Given the description of an element on the screen output the (x, y) to click on. 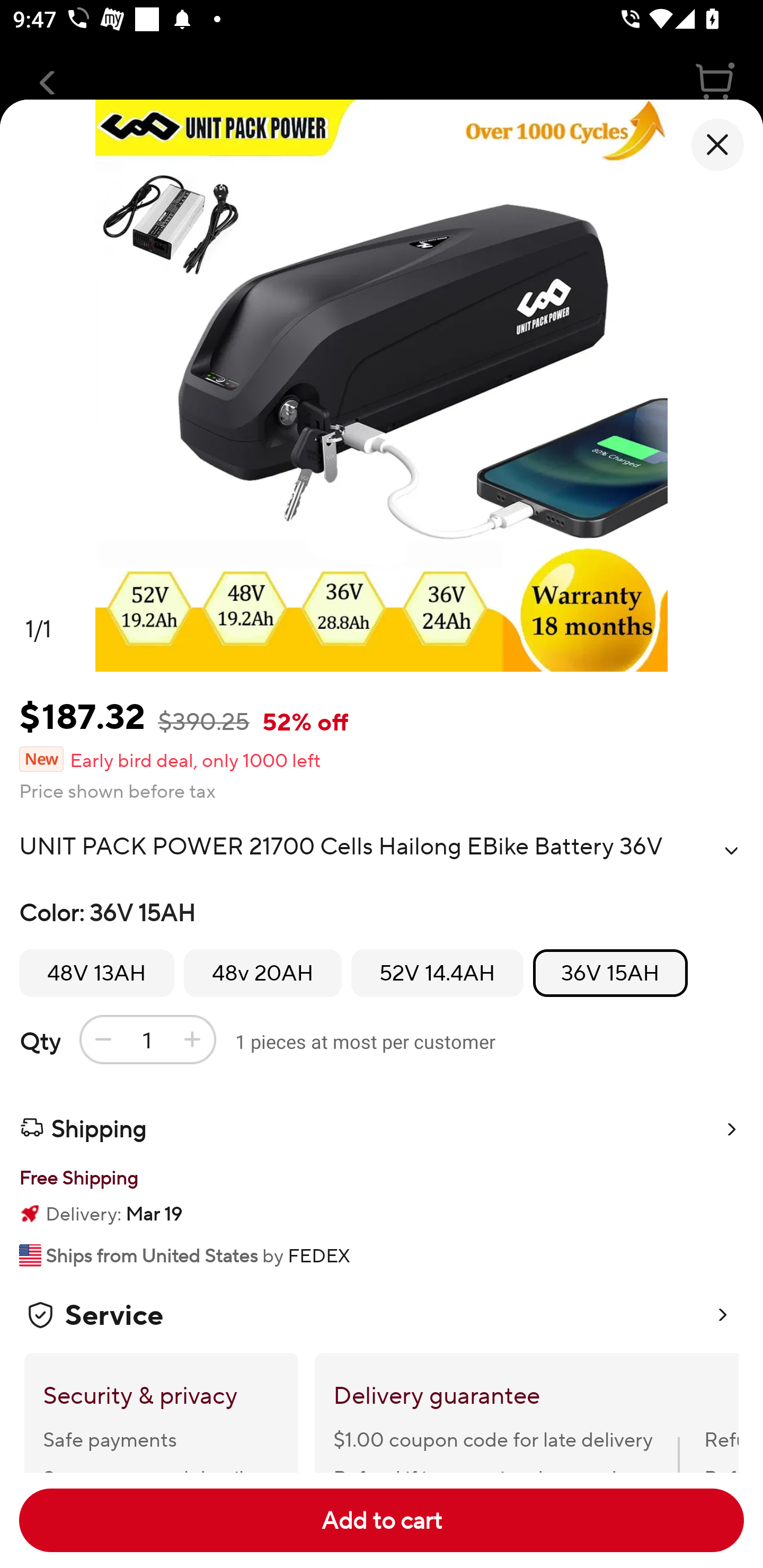
close  (717, 144)
 (730, 850)
48V 13AH (96, 972)
48v 20AH (262, 972)
52V 14.4AH (436, 972)
36V 15AH (610, 972)
Add to cart (381, 1520)
